Given the description of an element on the screen output the (x, y) to click on. 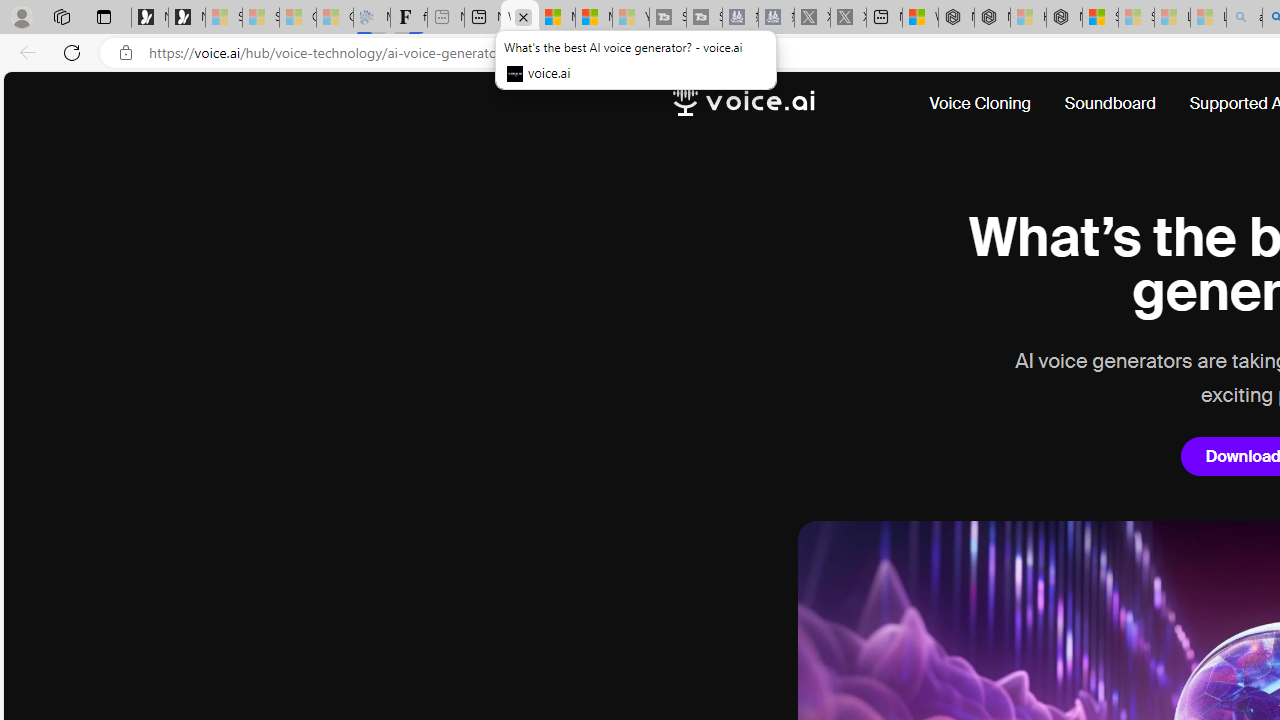
Voice Cloning (980, 103)
Soundboard (1109, 103)
Newsletter Sign Up (186, 17)
Nordace - Nordace Siena Is Not An Ordinary Backpack (1064, 17)
